Given the description of an element on the screen output the (x, y) to click on. 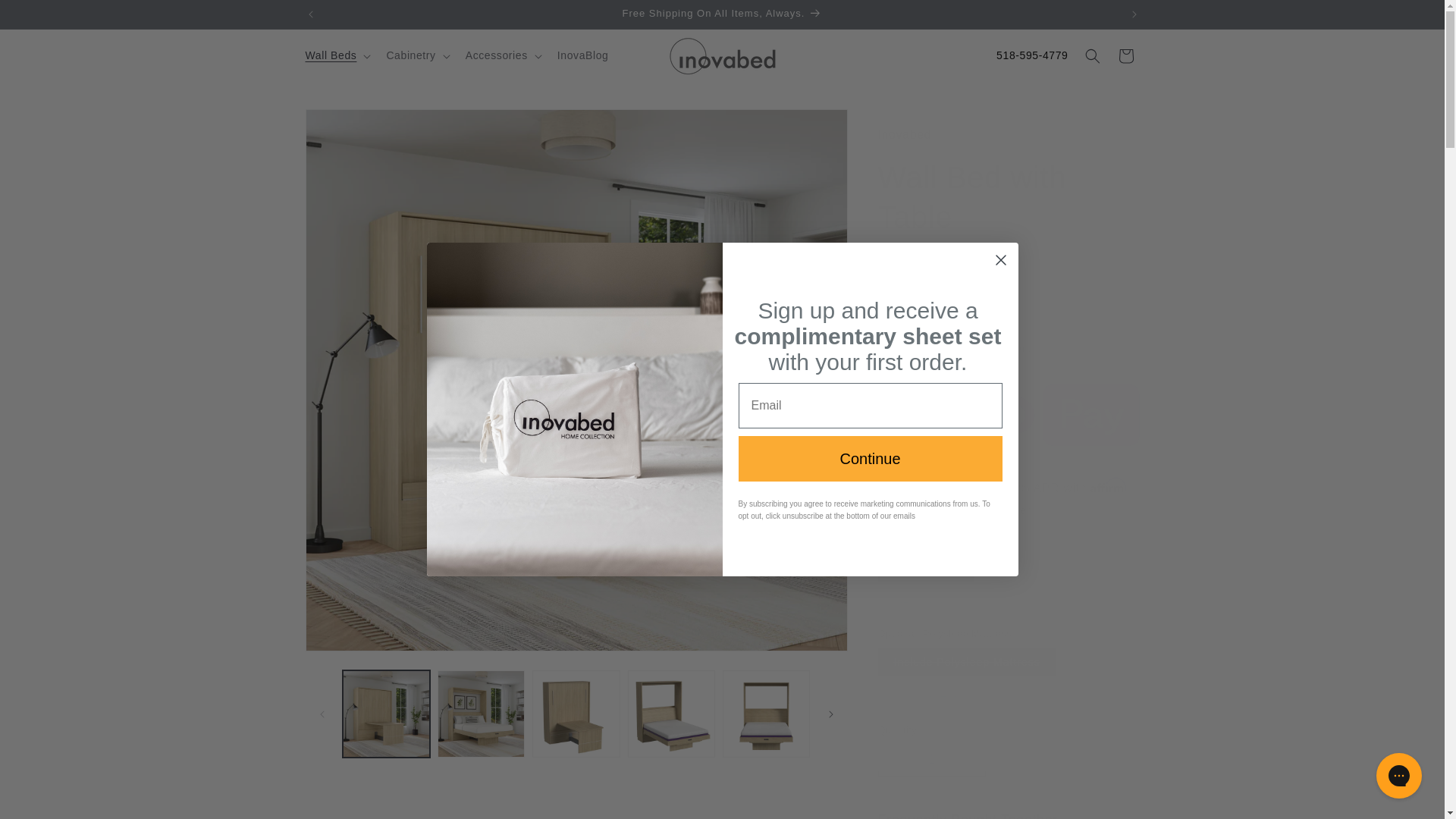
InovaBlog (582, 55)
Gorgias live chat messenger (1398, 775)
Skip to content (45, 17)
1 (931, 759)
Free Shipping On All Items, Always. (722, 14)
